Given the description of an element on the screen output the (x, y) to click on. 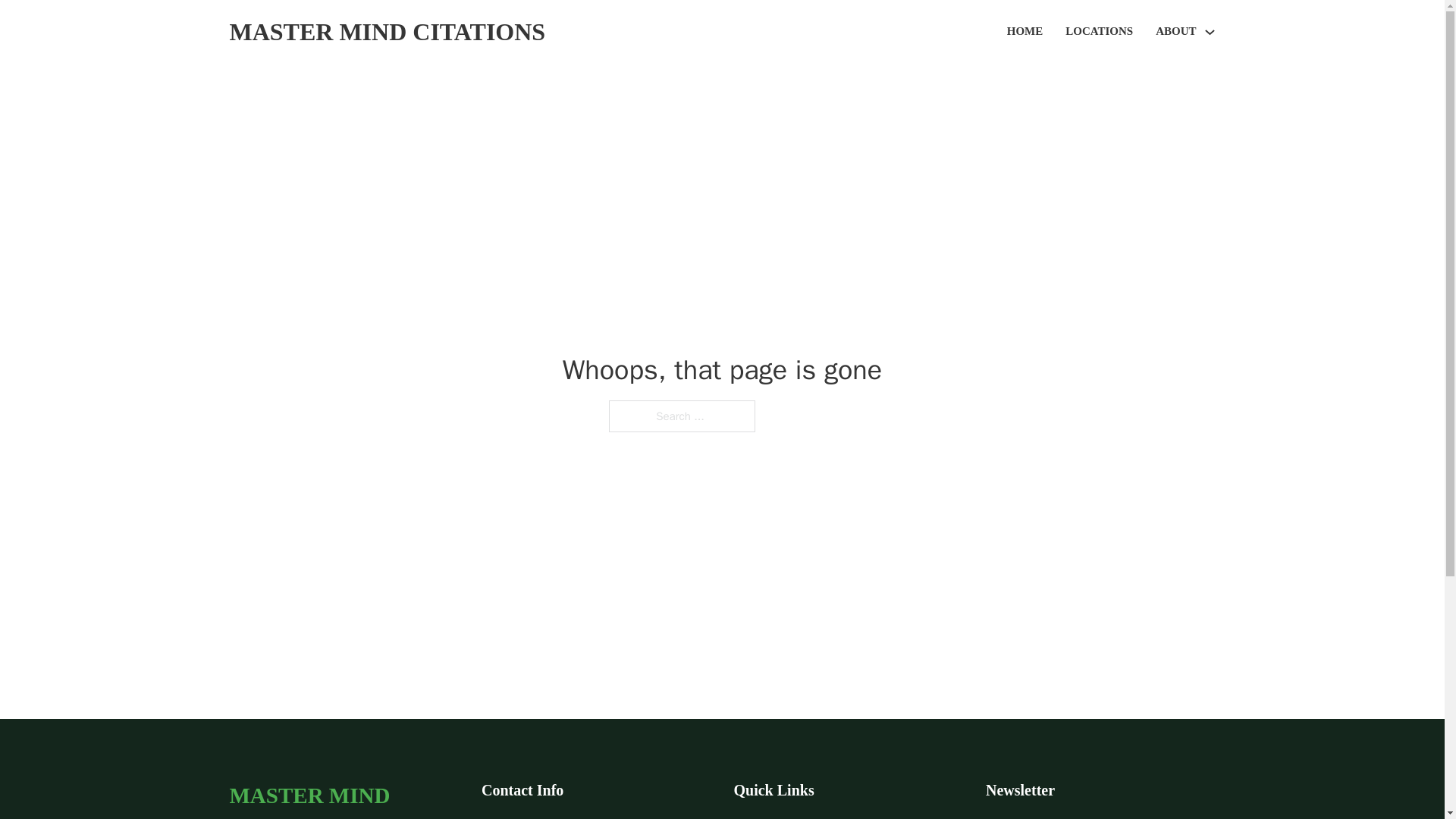
MASTER MIND CITATIONS (343, 798)
LOCATIONS (1098, 31)
HOME (1025, 31)
MASTER MIND CITATIONS (386, 31)
